Given the description of an element on the screen output the (x, y) to click on. 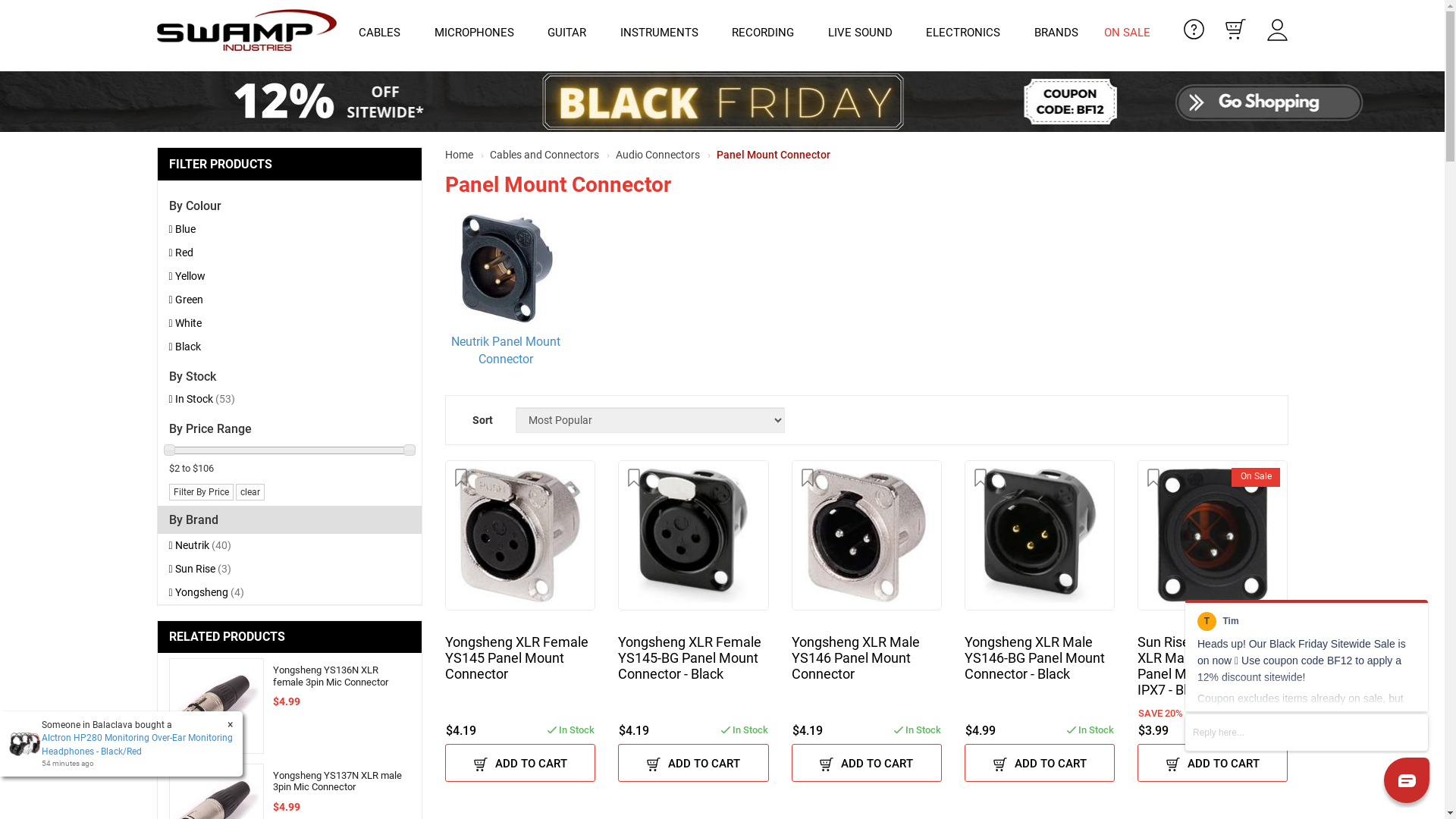
RECORDING Element type: text (766, 32)
LIVE SOUND Element type: text (863, 32)
clear Element type: text (249, 491)
CABLES Element type: text (382, 32)
Home Element type: text (460, 154)
Yongsheng (4) Element type: text (289, 592)
Add To Wishlist Element type: hover (460, 477)
Sun Rise (3) Element type: text (289, 568)
Yongsheng YS136N XLR female 3pin Mic Connector Element type: text (330, 675)
Chat Element type: hover (1307, 691)
$4.19 Element type: text (633, 730)
ADD TO CART Element type: text (866, 762)
Yongsheng XLR Female YS145-BG Panel Mount Connector - Black Element type: text (693, 665)
Submit Element type: text (25, 9)
Yongsheng XLR Male YS146 Panel Mount Connector Element type: text (866, 665)
Audio Connectors Element type: text (659, 154)
Yongsheng YS137N XLR male 3pin Mic Connector Element type: text (337, 780)
Yongsheng XLR Male YS146-BG Panel Mount Connector - Black Element type: text (1039, 665)
Filter By Price Element type: text (200, 491)
Panel Mount Connector Element type: text (773, 154)
GUITAR Element type: text (570, 32)
Cables and Connectors Element type: text (545, 154)
Add To Wishlist Element type: hover (633, 477)
ELECTRONICS Element type: text (966, 32)
ADD TO CART Element type: text (520, 762)
Black Element type: text (289, 346)
Neutrik Panel Mount Connector Element type: text (505, 350)
Blue Element type: text (289, 229)
BRANDS Element type: text (1056, 32)
$4.19 Element type: text (807, 730)
In Stock Element type: text (1089, 727)
White Element type: text (289, 323)
Add To Wishlist Element type: hover (980, 477)
SWAMP Industries Element type: hover (245, 36)
Add To Wishlist Element type: hover (807, 477)
Yongsheng YS137N XLR male 3pin Mic Connector Element type: hover (215, 809)
$4.99 Element type: text (980, 730)
In Stock Element type: text (1262, 727)
$4.19 Element type: text (460, 730)
MICROPHONES Element type: text (477, 32)
In Stock (53) Element type: text (289, 399)
ADD TO CART Element type: text (1039, 762)
FILTER PRODUCTS Element type: text (289, 164)
Red Element type: text (289, 252)
INSTRUMENTS Element type: text (662, 32)
Neutrik (40) Element type: text (289, 545)
In Stock Element type: text (917, 727)
Yongsheng XLR Female YS145 Panel Mount Connector Element type: text (520, 665)
Yellow Element type: text (289, 276)
ON SALE Element type: text (1127, 32)
Yongsheng YS136N XLR female 3pin Mic Connector Element type: hover (215, 705)
ADD TO CART Element type: text (1212, 762)
Green Element type: text (289, 299)
In Stock Element type: text (570, 727)
In Stock Element type: text (744, 727)
ADD TO CART Element type: text (693, 762)
Add To Wishlist Element type: hover (1153, 477)
$3.99 Element type: text (1153, 730)
